Given the description of an element on the screen output the (x, y) to click on. 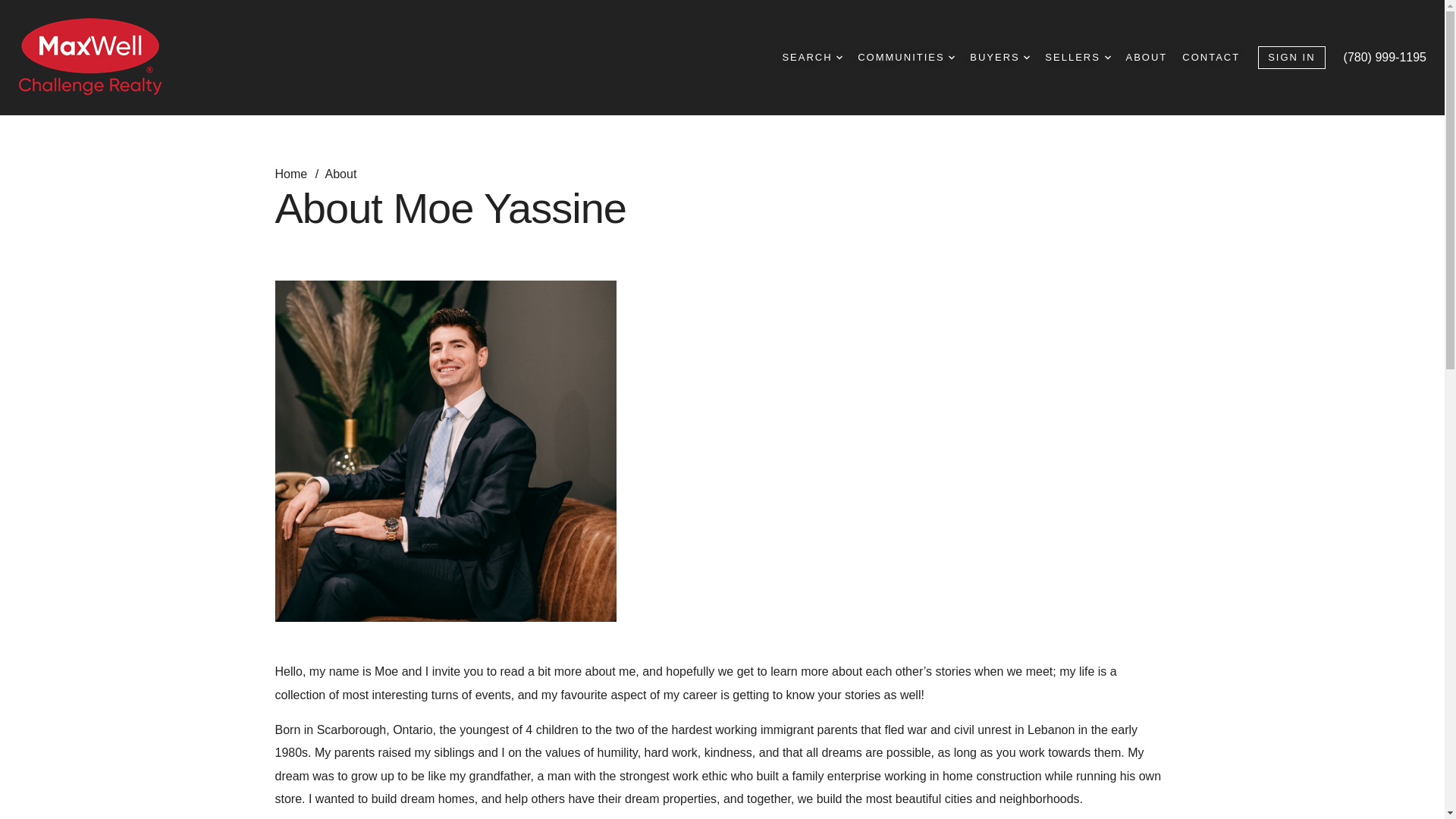
DROPDOWN ARROW (839, 57)
DROPDOWN ARROW (1026, 57)
SEARCH DROPDOWN ARROW (812, 57)
BUYERS DROPDOWN ARROW (999, 57)
About (340, 173)
SELLERS DROPDOWN ARROW (1077, 57)
Home (292, 173)
COMMUNITIES DROPDOWN ARROW (906, 57)
ABOUT (1146, 57)
CONTACT (1211, 57)
